Given the description of an element on the screen output the (x, y) to click on. 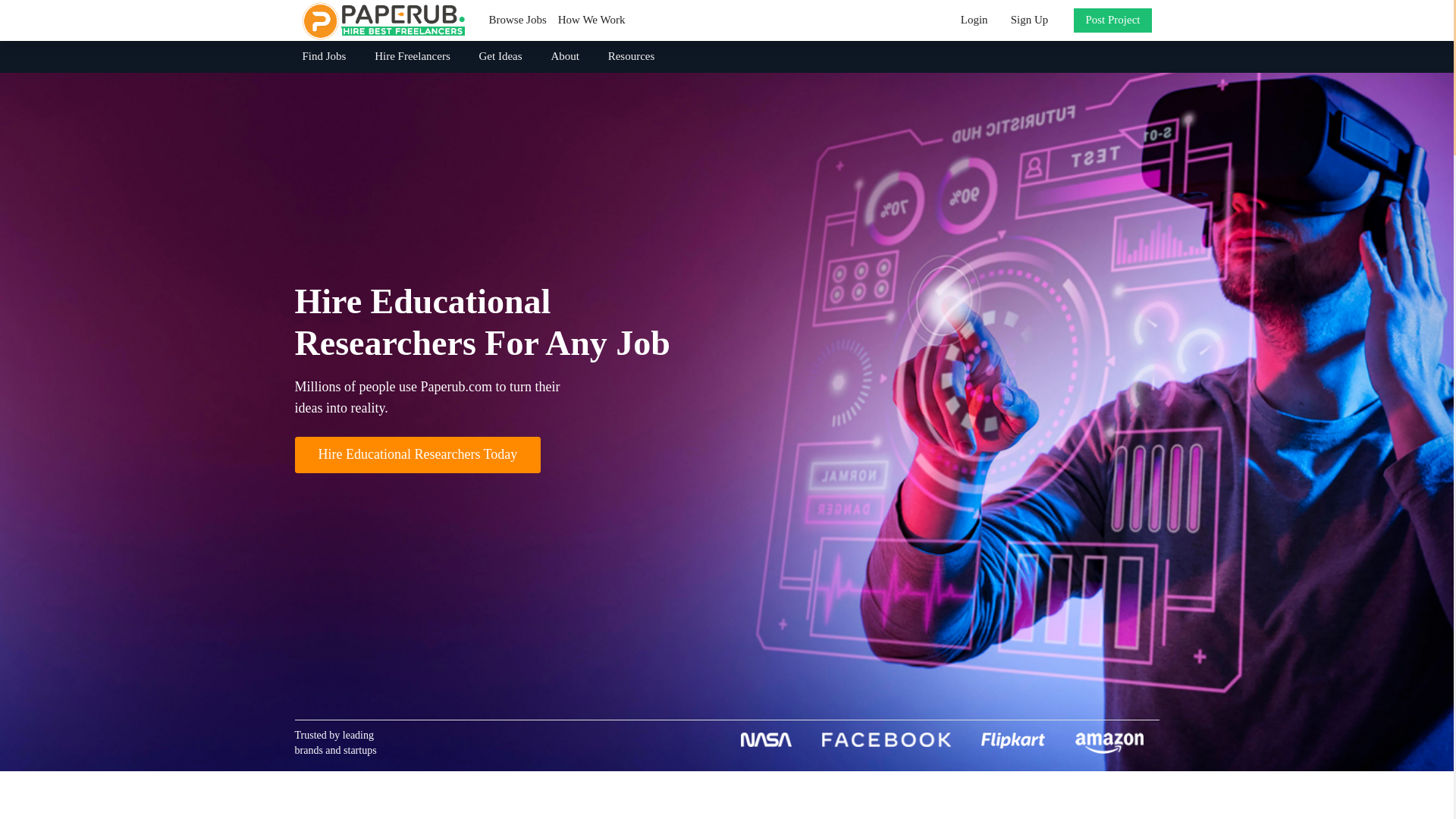
Browse Jobs (516, 19)
Sign Up (1028, 19)
How We Work (592, 19)
Post Project (1112, 19)
Login (973, 19)
Find Jobs (329, 56)
